Given the description of an element on the screen output the (x, y) to click on. 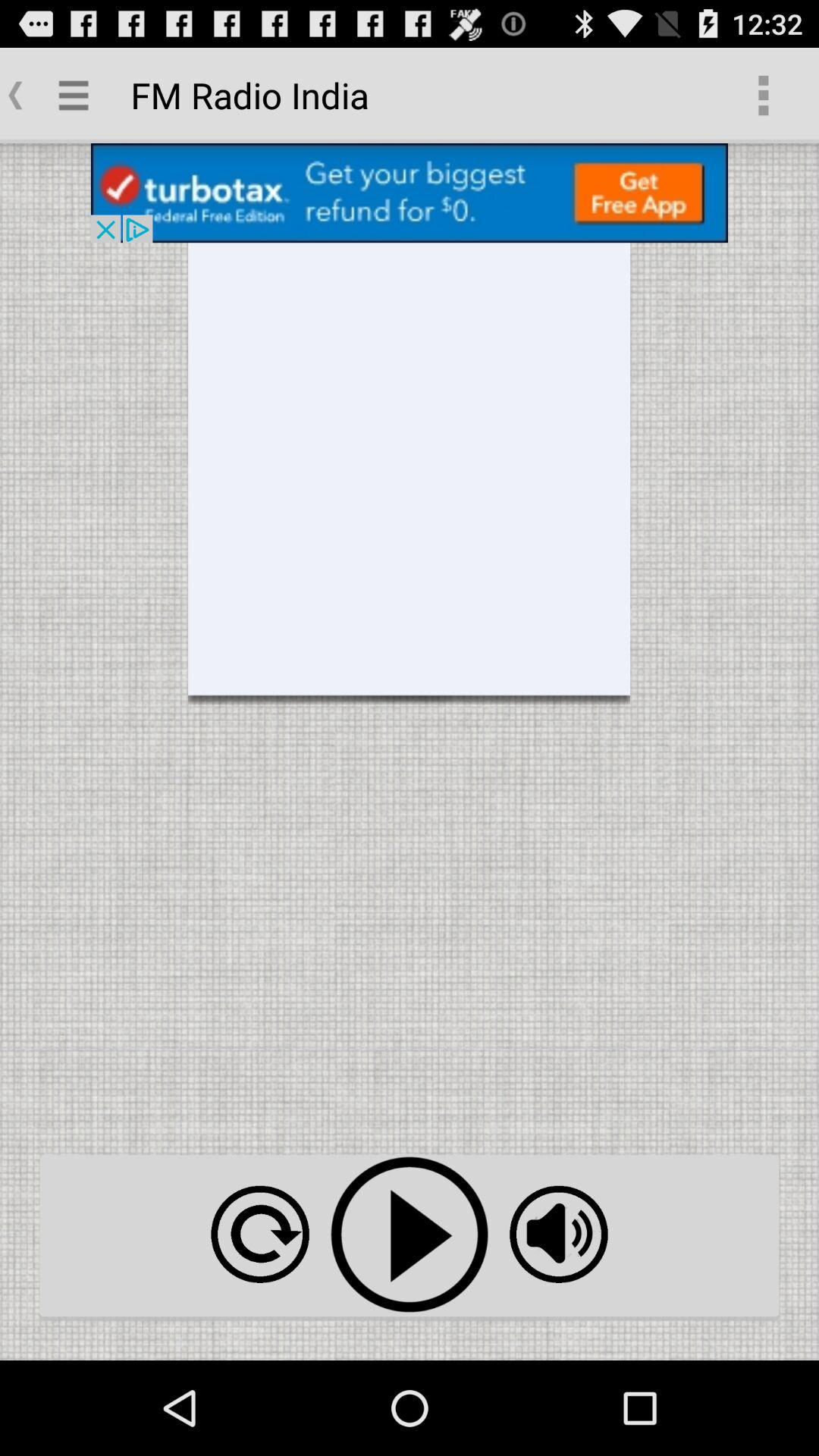
open item at the bottom (409, 1234)
